Given the description of an element on the screen output the (x, y) to click on. 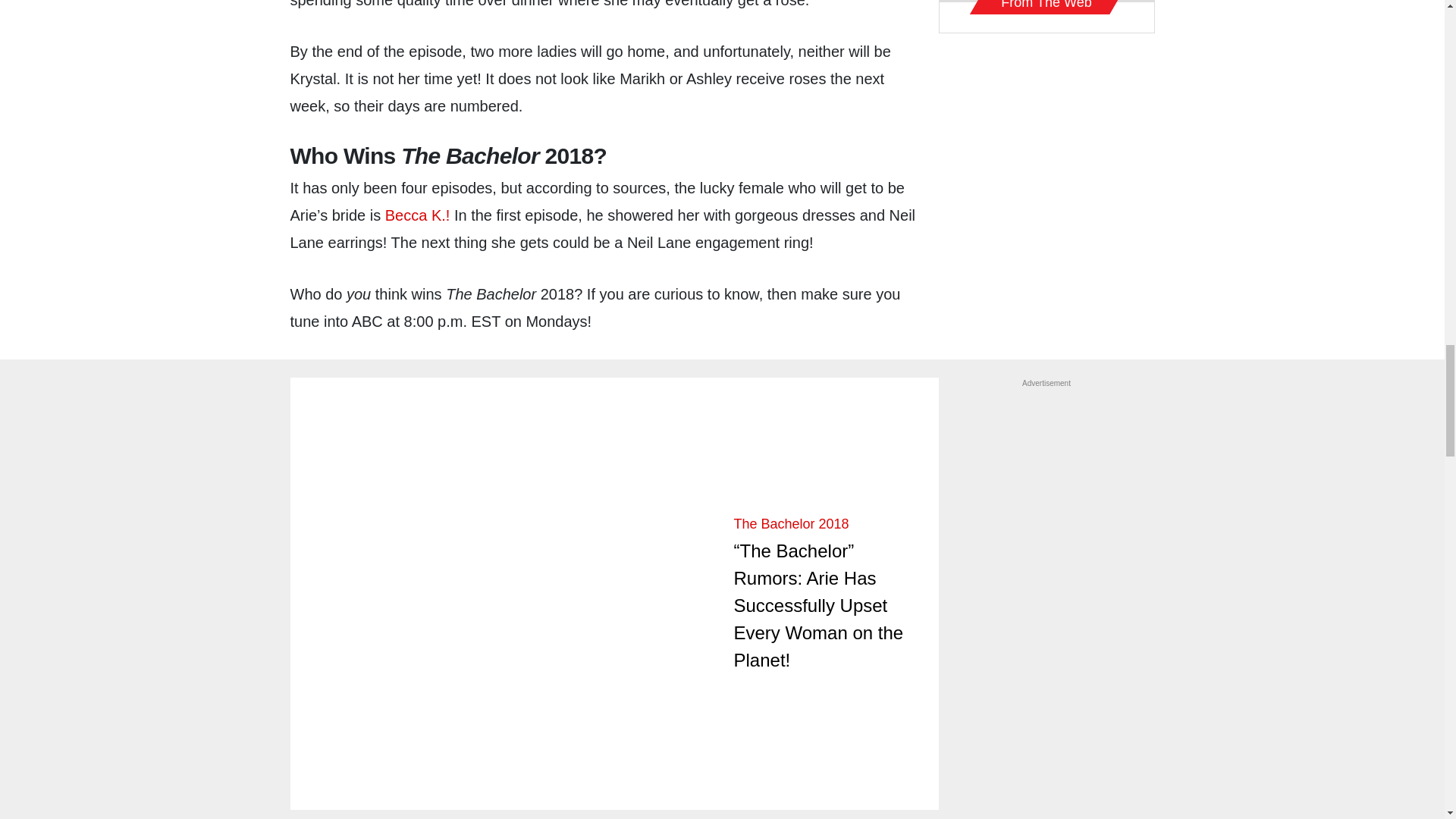
Becca K.! (417, 215)
Category Name (790, 523)
